Given the description of an element on the screen output the (x, y) to click on. 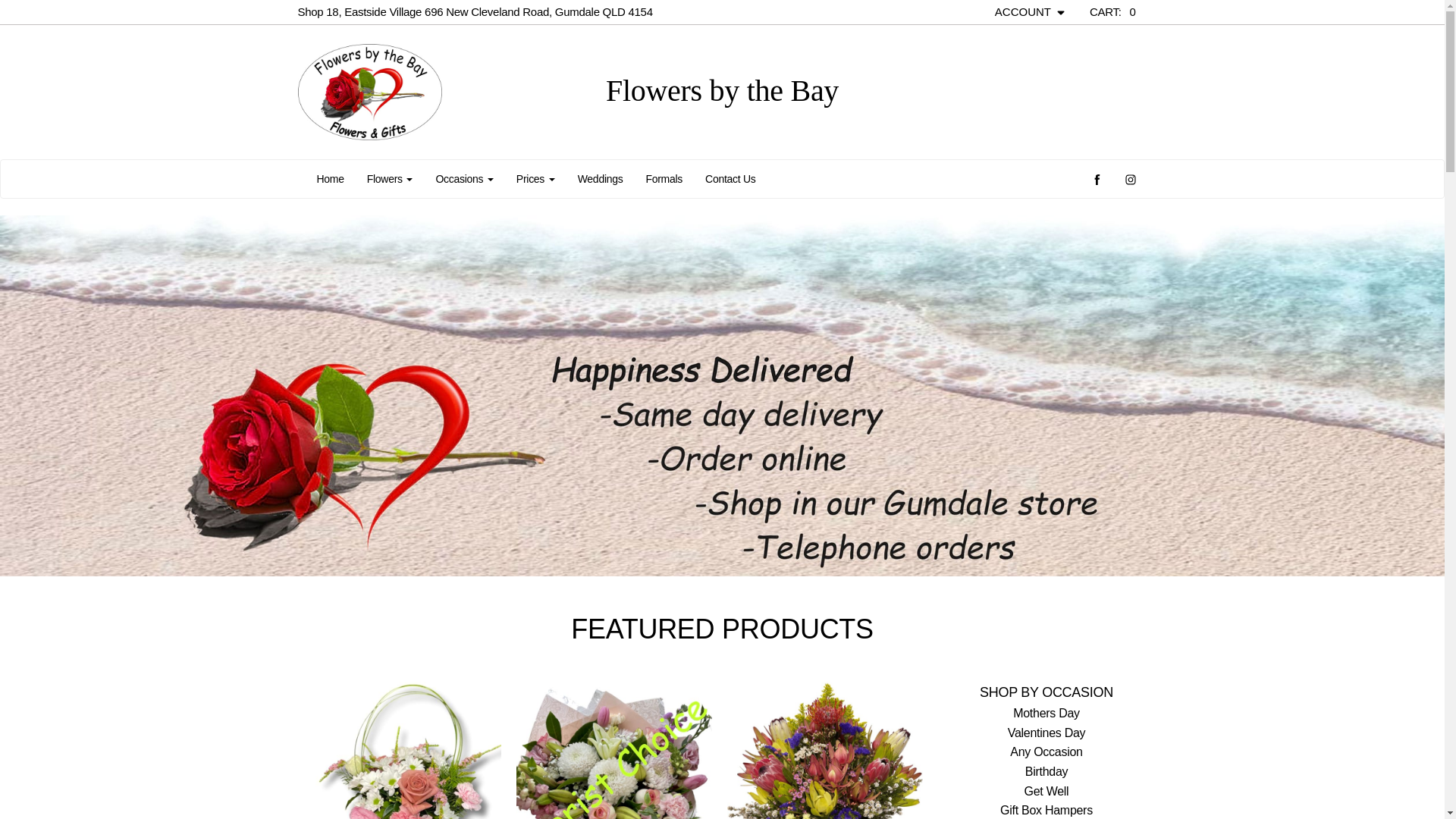
Prices Element type: text (535, 178)
Gift Box Hampers Element type: text (1046, 809)
Flowers by the Bay Element type: text (721, 90)
Home Element type: text (329, 178)
CART: 0 Element type: text (1112, 11)
Flowers by the Bay Element type: hover (433, 91)
instagram Element type: text (1129, 178)
Any Occasion Element type: text (1046, 751)
Get Well Element type: text (1046, 790)
Mothers Day Element type: text (1046, 712)
Formals Element type: text (663, 178)
Contact Us Element type: text (729, 178)
Weddings Element type: text (600, 178)
Birthday Element type: text (1046, 771)
ACCOUNT Element type: text (1031, 12)
Flowers Element type: text (389, 178)
Valentines Day Element type: text (1046, 732)
Occasions Element type: text (463, 178)
SHOP BY OCCASION Element type: text (1046, 692)
